Given the description of an element on the screen output the (x, y) to click on. 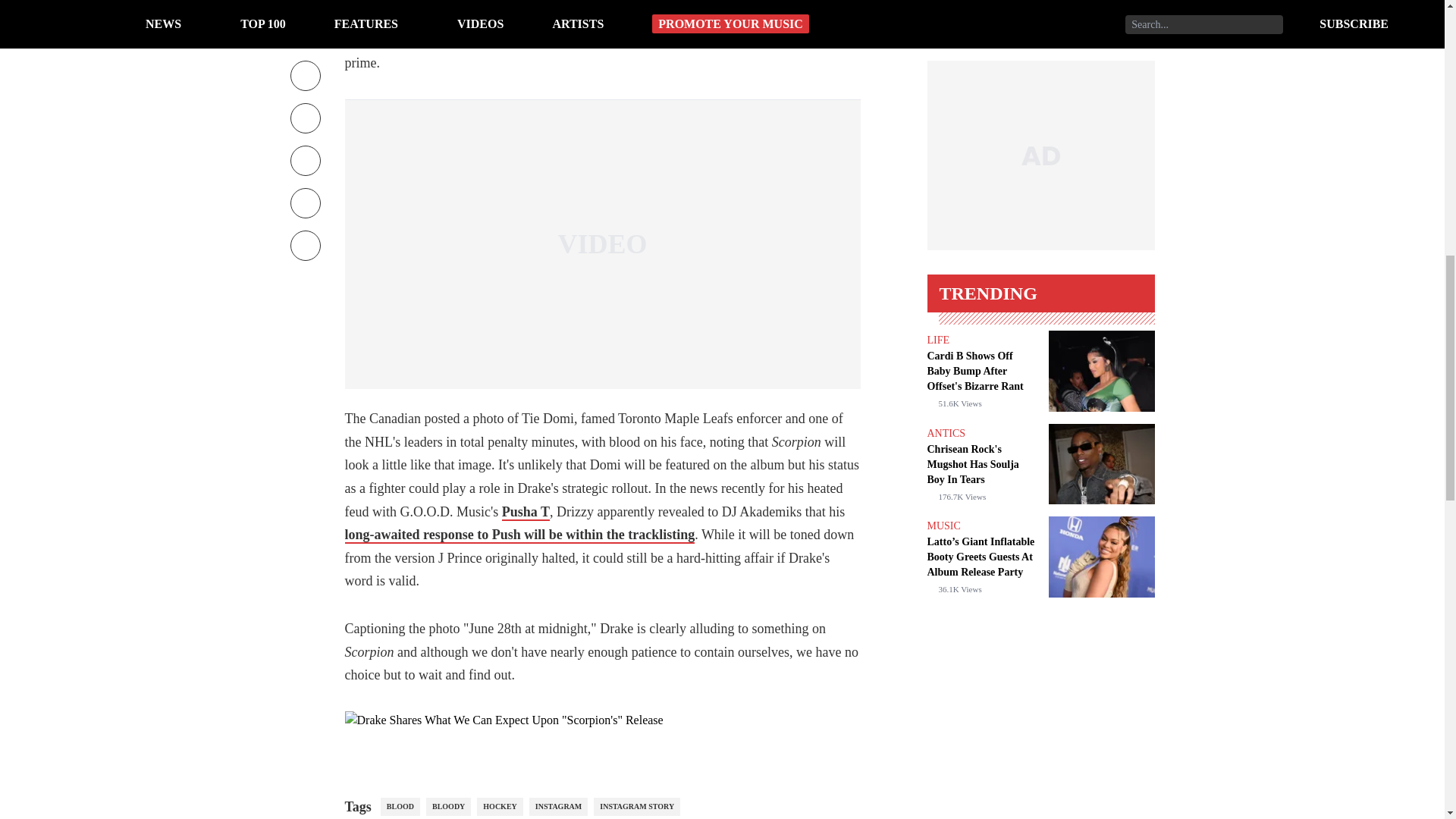
HOCKEY (499, 806)
INSTAGRAM STORY (636, 806)
Pusha T (526, 512)
BLOOD (400, 806)
INSTAGRAM (558, 806)
BLOODY (448, 806)
